Given the description of an element on the screen output the (x, y) to click on. 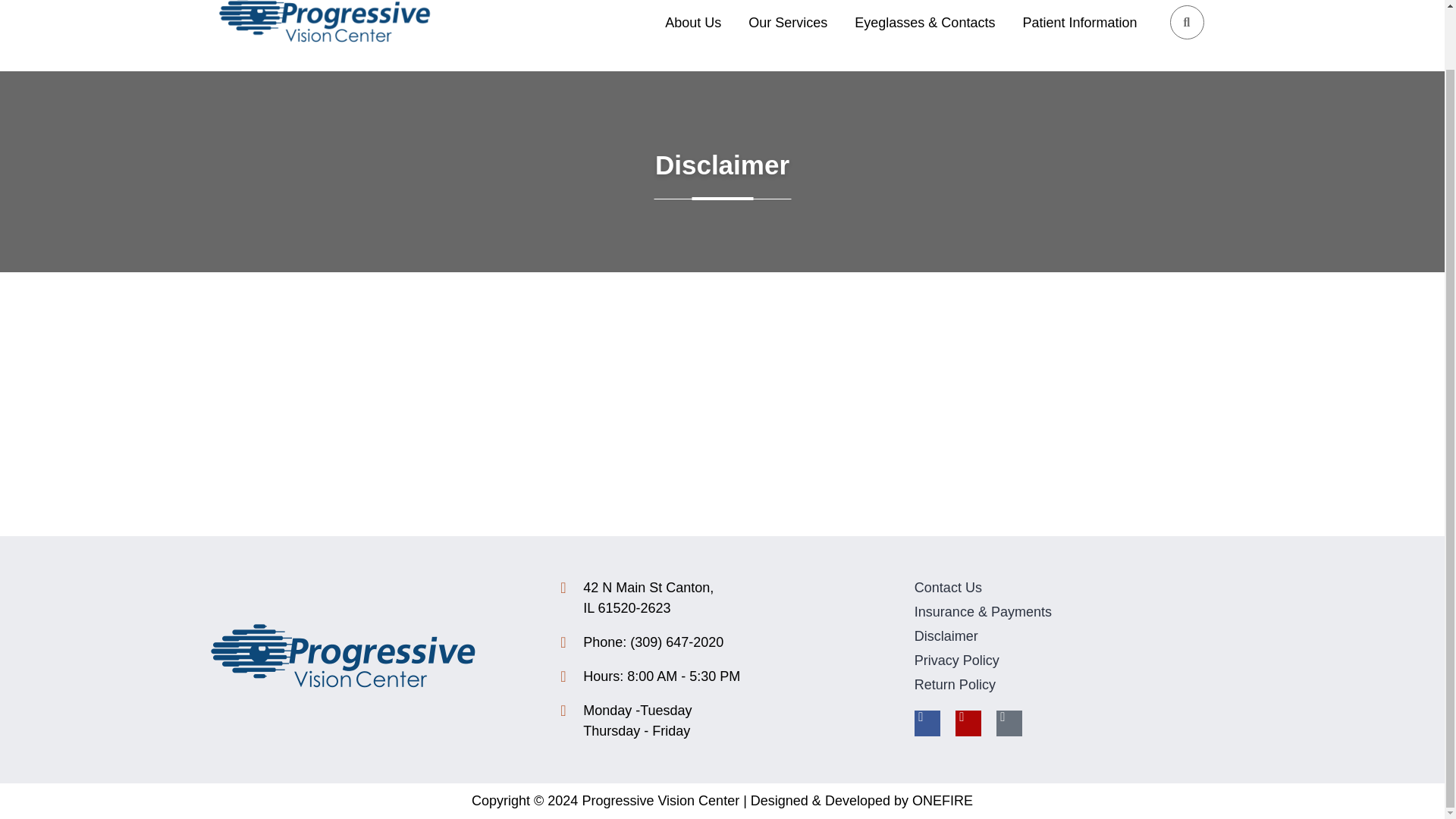
About Us (696, 22)
Patient Information (1082, 22)
Privacy Policy (1076, 660)
Disclaimer (1076, 636)
Our Services (721, 598)
Contact Us (791, 22)
Hours: 8:00 AM - 5:30 PM (1076, 588)
